Given the description of an element on the screen output the (x, y) to click on. 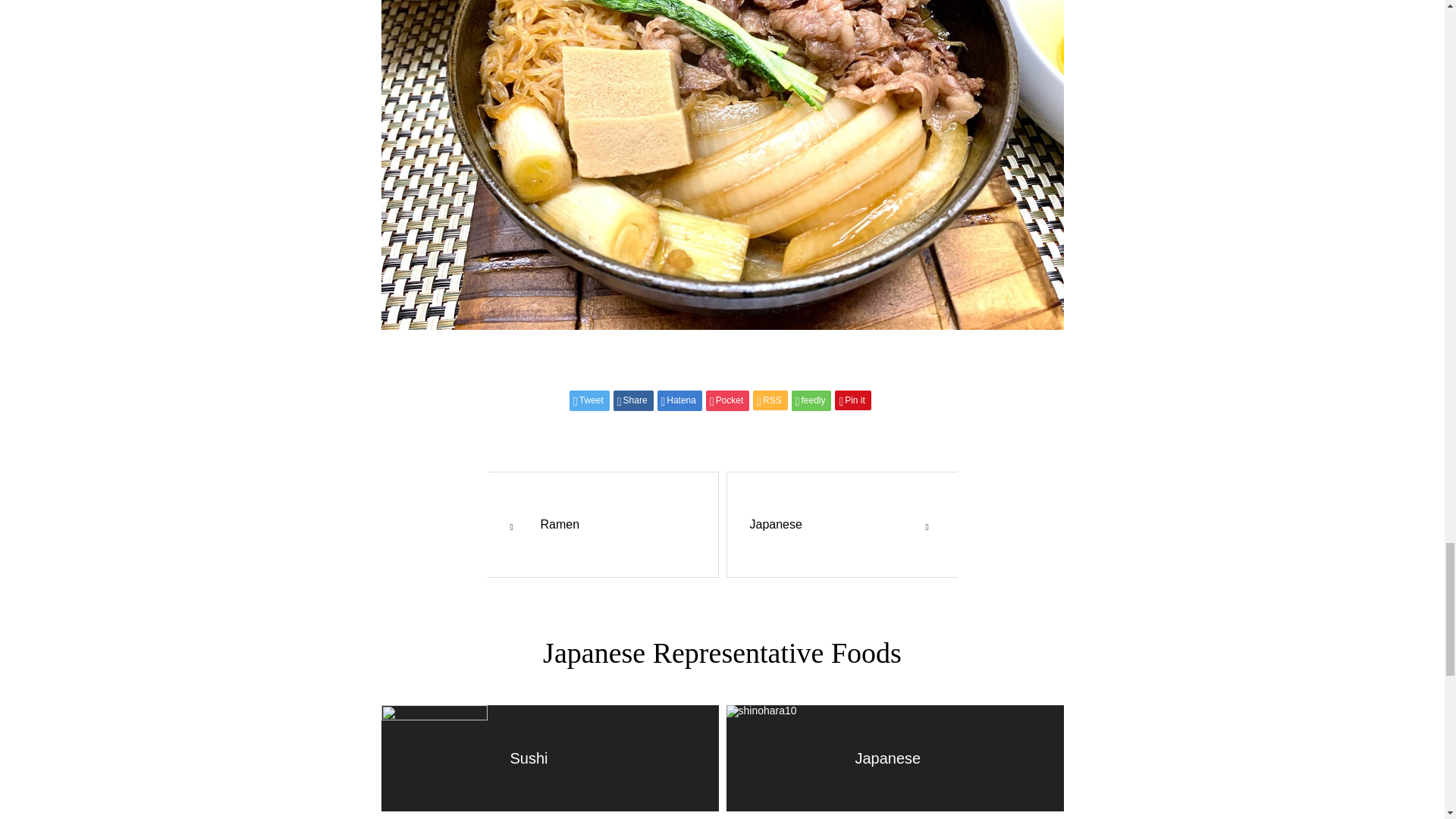
RSS (769, 400)
Pocket (727, 400)
Sushi (548, 758)
Share (632, 400)
Japanese (895, 524)
Tweet (589, 400)
Pin it (852, 400)
Japanese (895, 758)
feedly (811, 400)
Hatena (679, 400)
Ramen (548, 524)
